Given the description of an element on the screen output the (x, y) to click on. 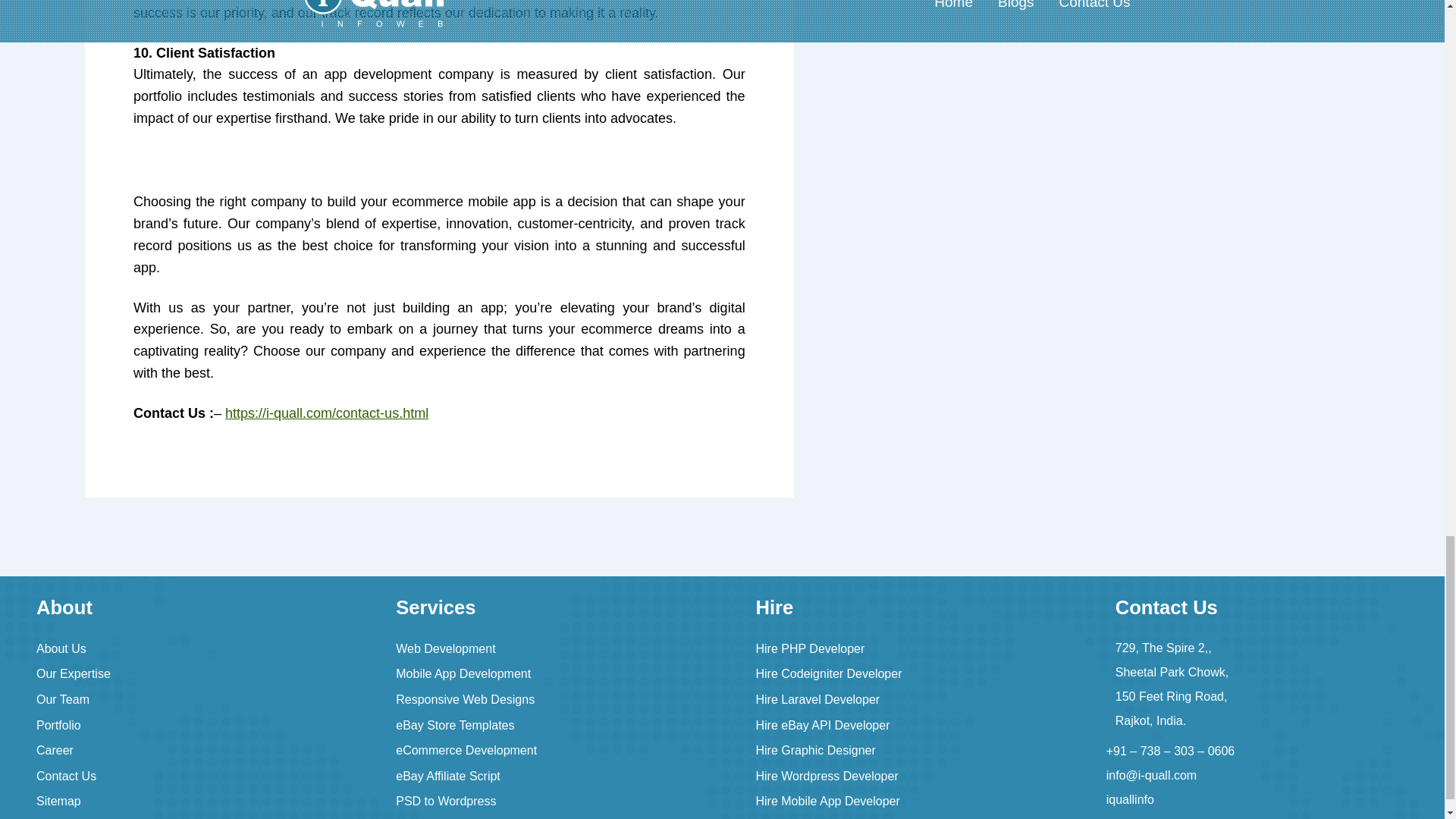
Our Expertise (73, 673)
Portfolio (58, 725)
Sitemap (58, 800)
Our Team (62, 698)
Contact Us (66, 775)
Career (55, 749)
About Us (60, 648)
